Given the description of an element on the screen output the (x, y) to click on. 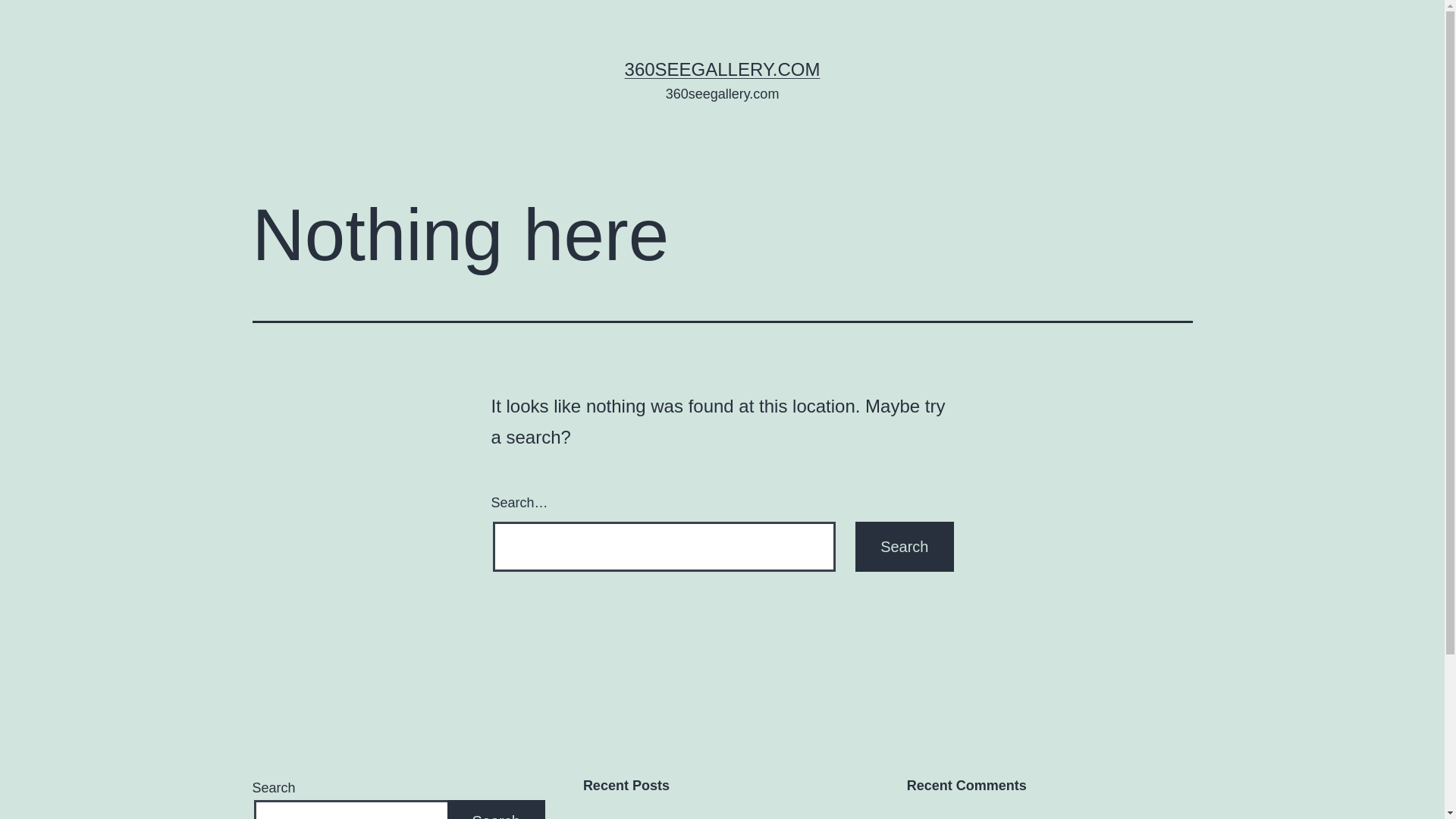
Search Element type: text (904, 546)
360SEEGALLERY.COM Element type: text (722, 69)
